Given the description of an element on the screen output the (x, y) to click on. 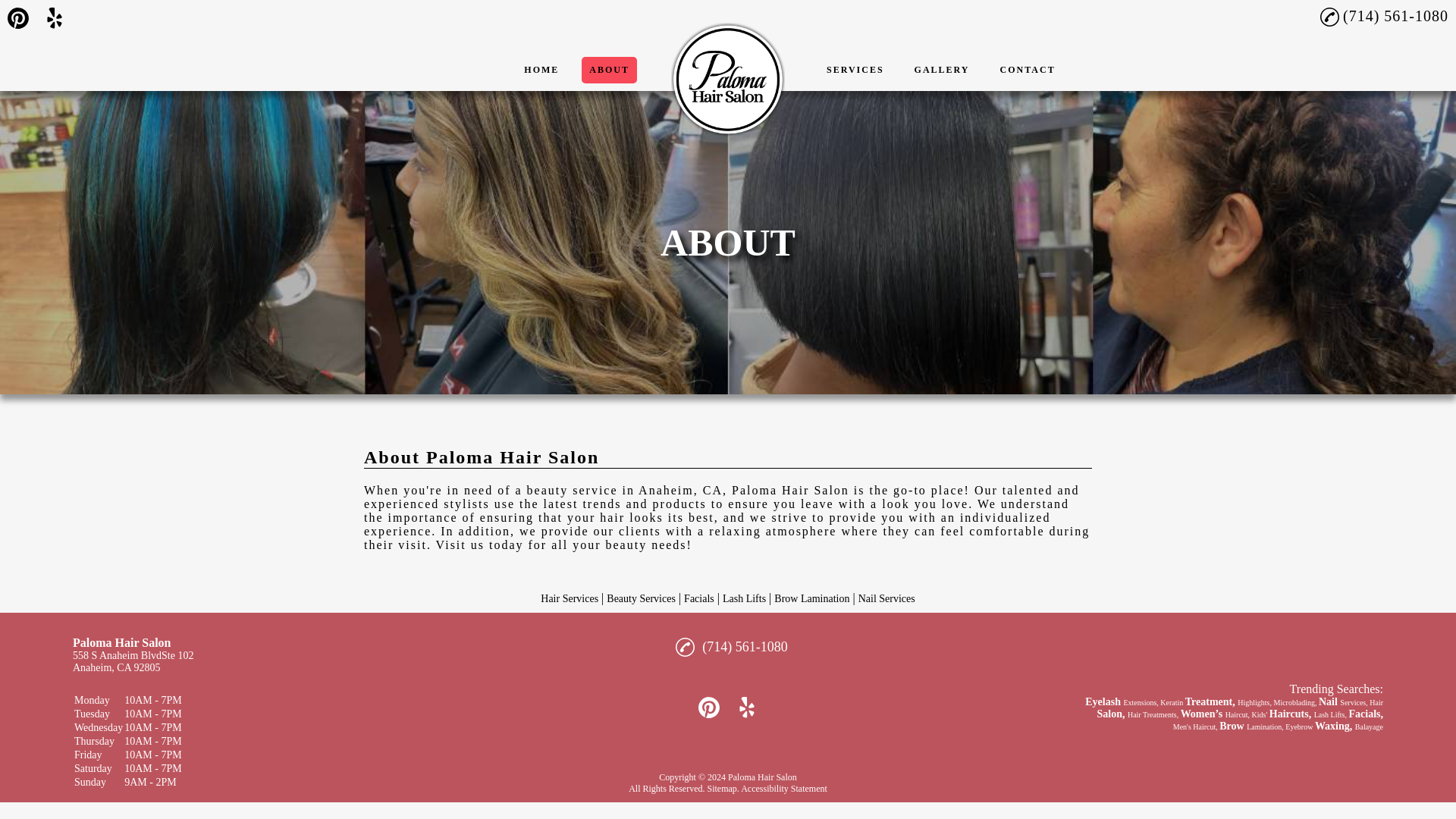
SERVICES (854, 69)
Brow Lamination (811, 598)
Facials (699, 598)
Phone (1331, 16)
Sitemap. (721, 787)
Hair Services (569, 598)
Accessibility Statement (784, 787)
Beauty Services (641, 598)
CONTACT (1027, 69)
ABOUT (608, 69)
Nail Services (887, 598)
Phone (684, 646)
HOME (541, 69)
Phone (1331, 16)
GALLERY (941, 69)
